Given the description of an element on the screen output the (x, y) to click on. 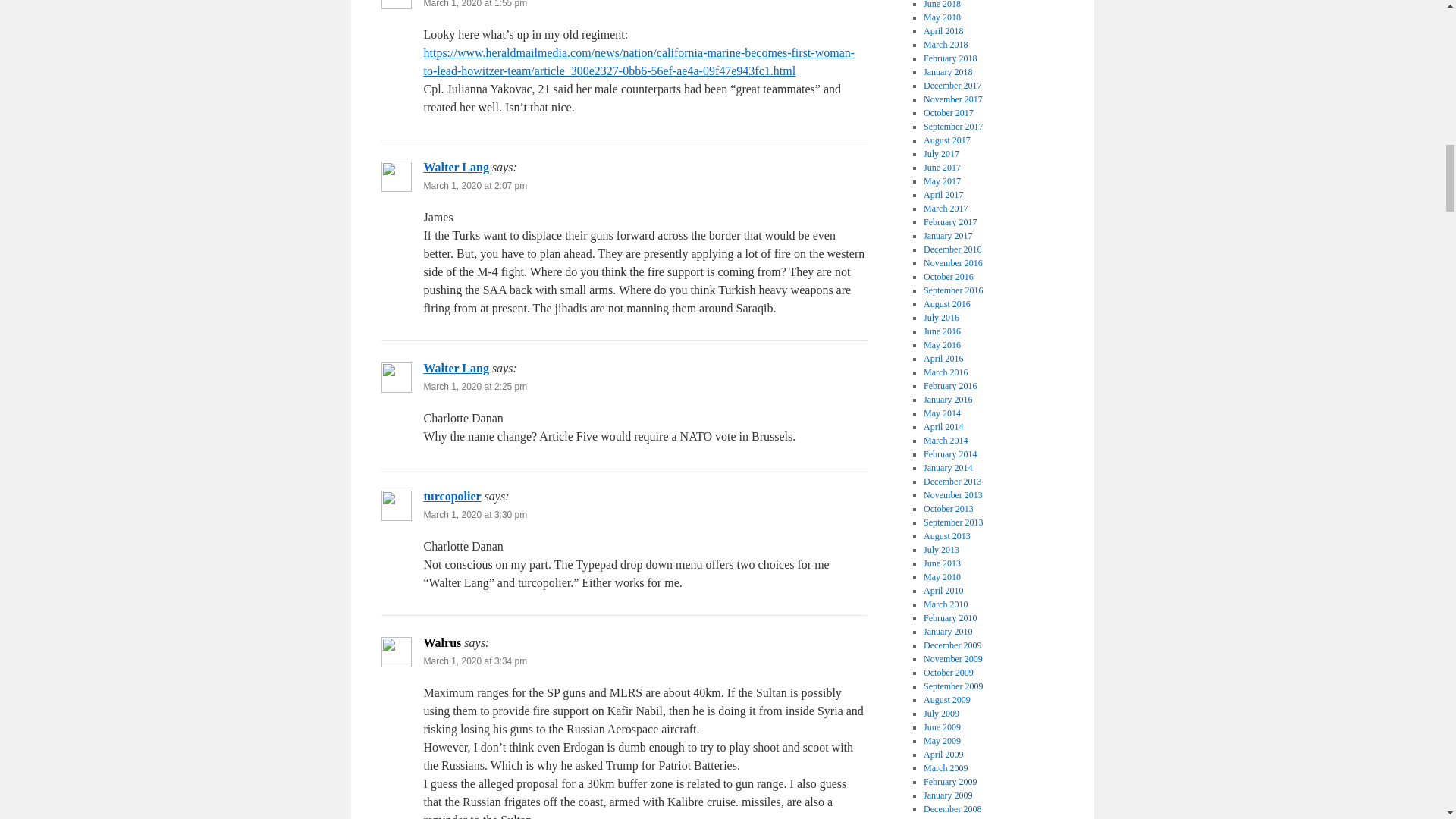
Walter Lang (455, 367)
Walter Lang (455, 166)
March 1, 2020 at 3:30 pm (475, 514)
March 1, 2020 at 2:07 pm (475, 185)
March 1, 2020 at 2:25 pm (475, 386)
March 1, 2020 at 1:55 pm (475, 4)
March 1, 2020 at 3:34 pm (475, 661)
turcopolier (451, 495)
